Given the description of an element on the screen output the (x, y) to click on. 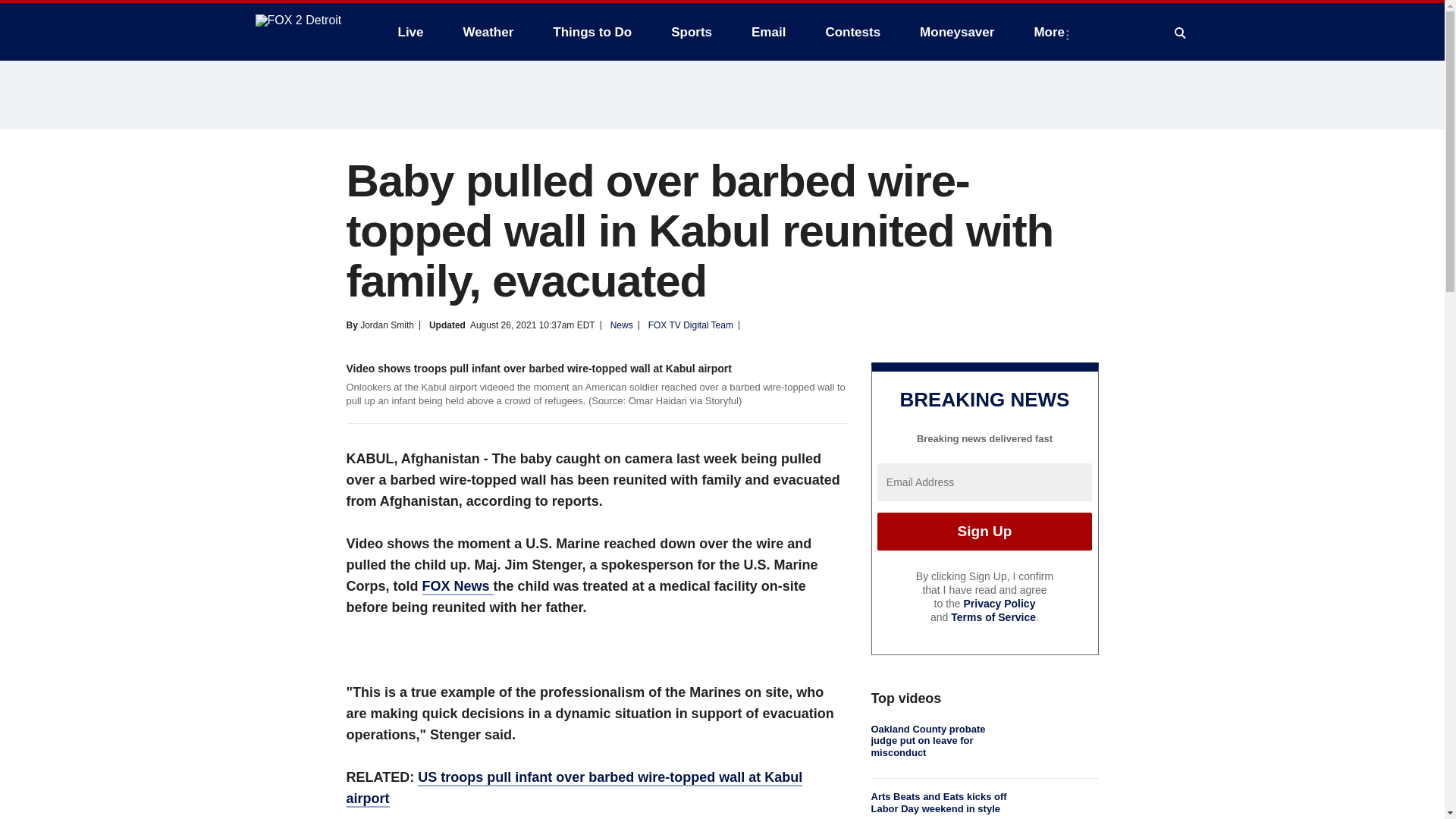
Weather (488, 32)
Sports (691, 32)
Contests (852, 32)
Email (768, 32)
Things to Do (591, 32)
Live (410, 32)
More (1052, 32)
Sign Up (984, 531)
Moneysaver (956, 32)
